Given the description of an element on the screen output the (x, y) to click on. 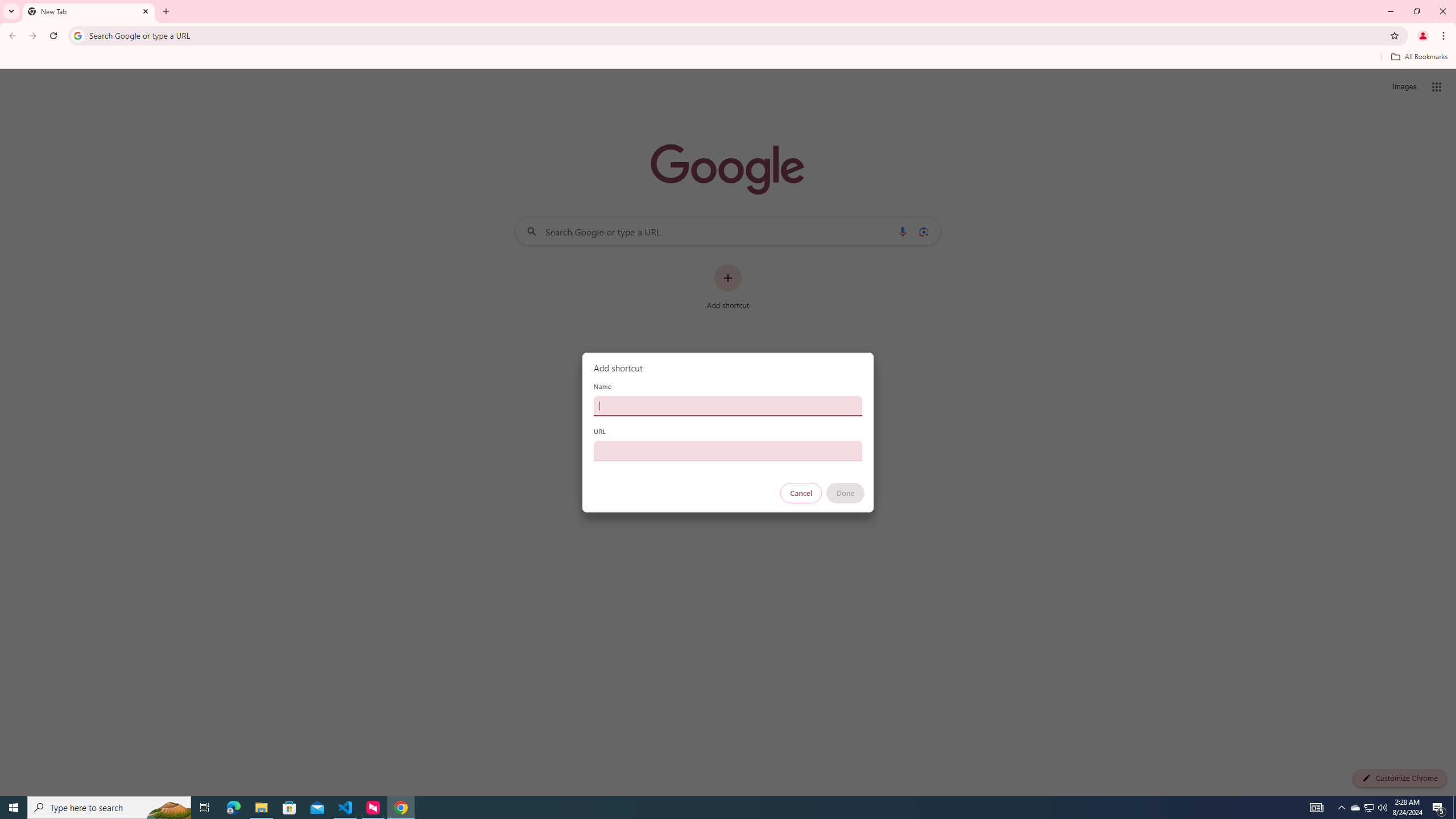
Name (727, 405)
Done (845, 493)
Cancel (801, 493)
